Given the description of an element on the screen output the (x, y) to click on. 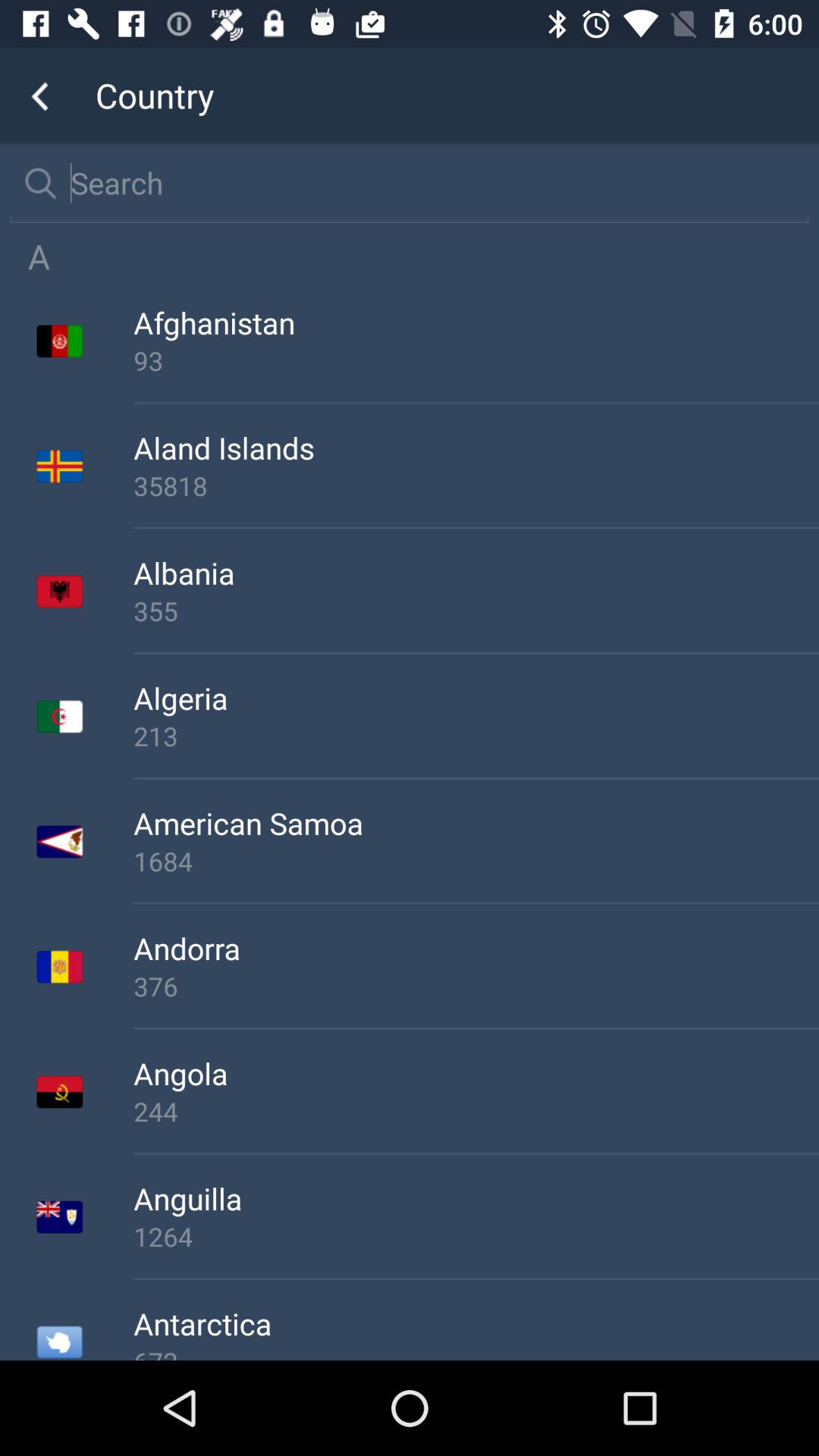
turn off the item below angola app (476, 1110)
